Given the description of an element on the screen output the (x, y) to click on. 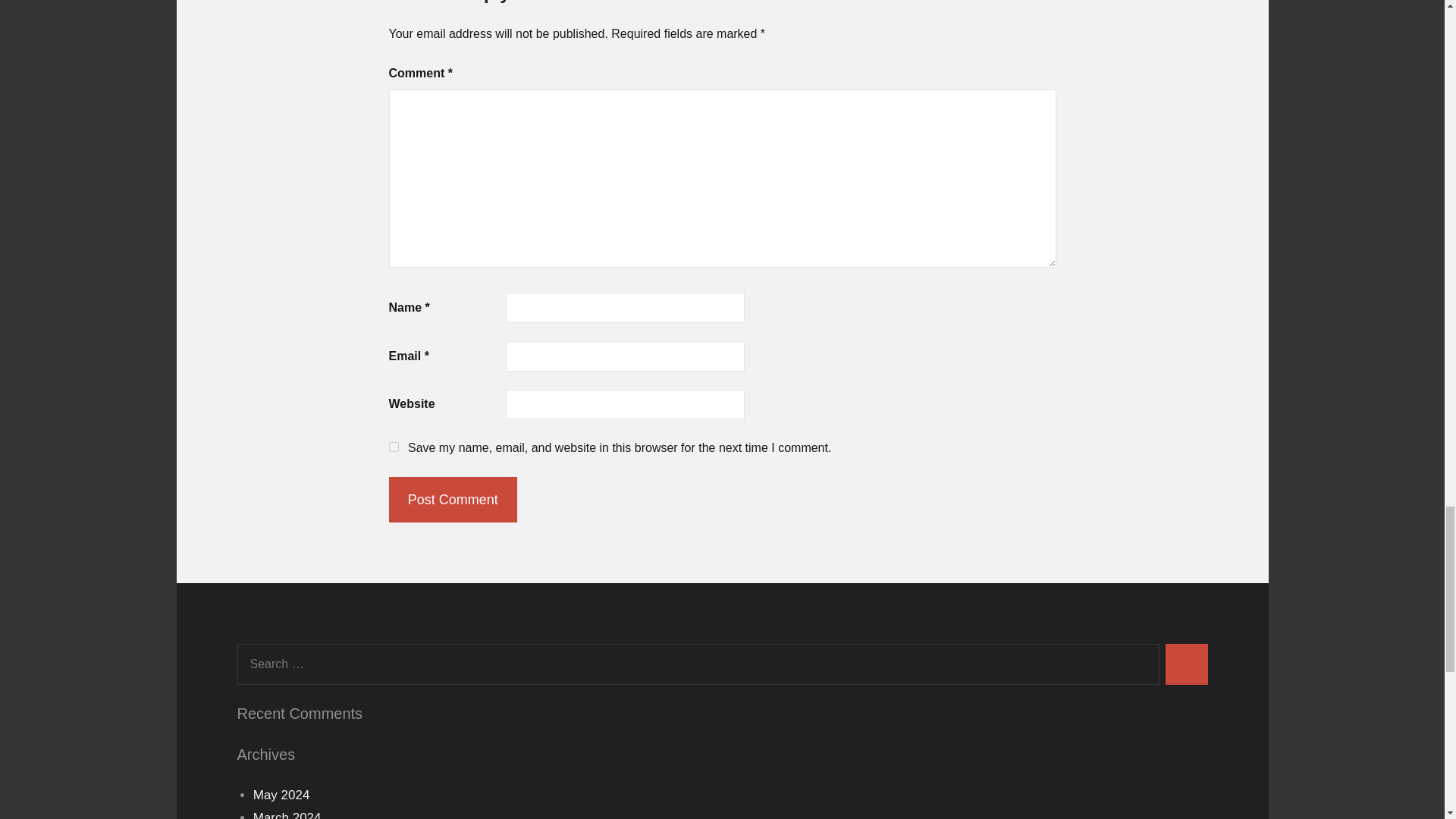
March 2024 (287, 814)
May 2024 (281, 794)
yes (392, 447)
Post Comment (452, 499)
Search for: (696, 663)
Post Comment (452, 499)
